Given the description of an element on the screen output the (x, y) to click on. 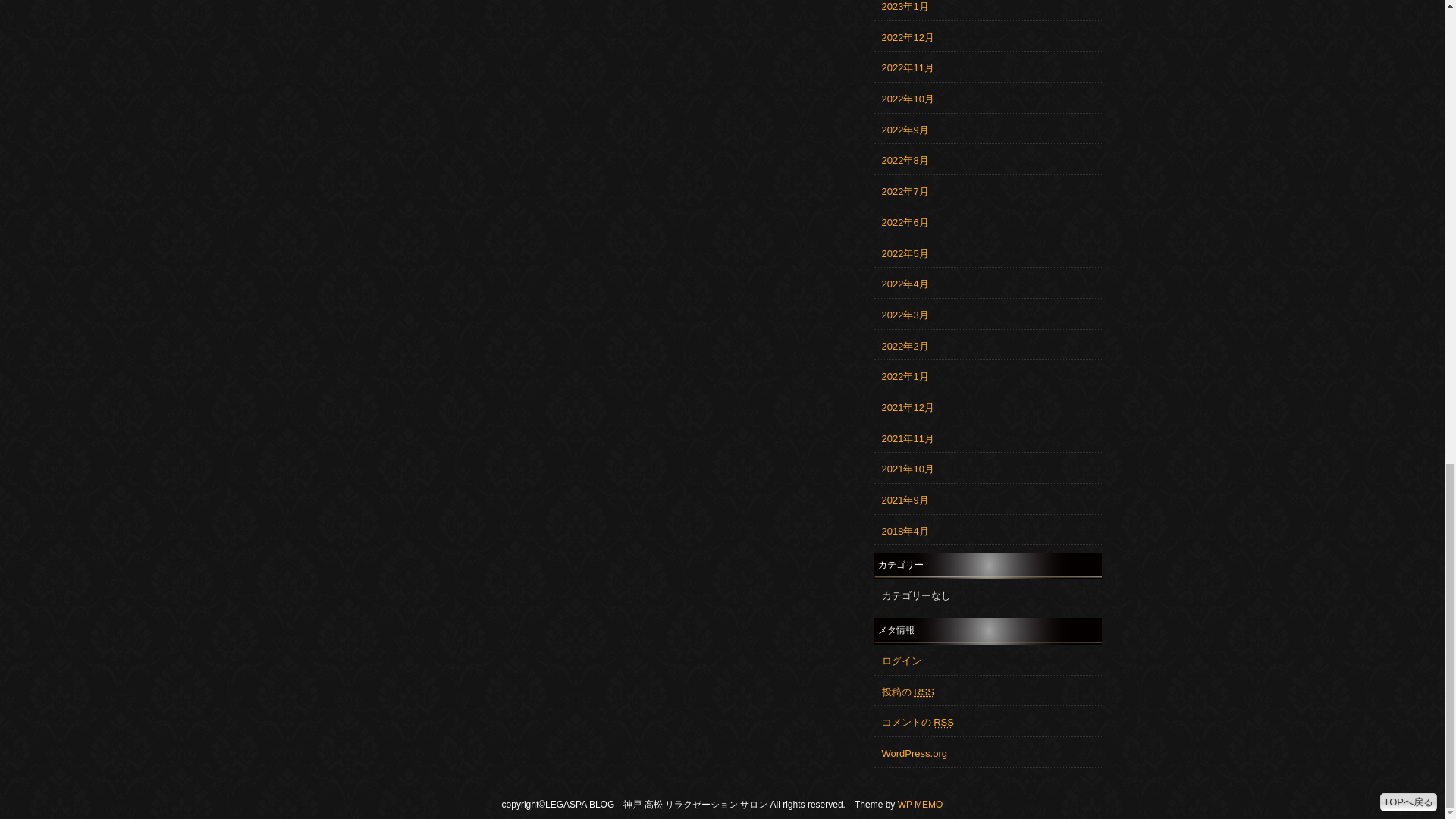
WordPress.org (913, 753)
WP MEMO (920, 804)
Really Simple Syndication (924, 691)
Really Simple Syndication (943, 722)
